Given the description of an element on the screen output the (x, y) to click on. 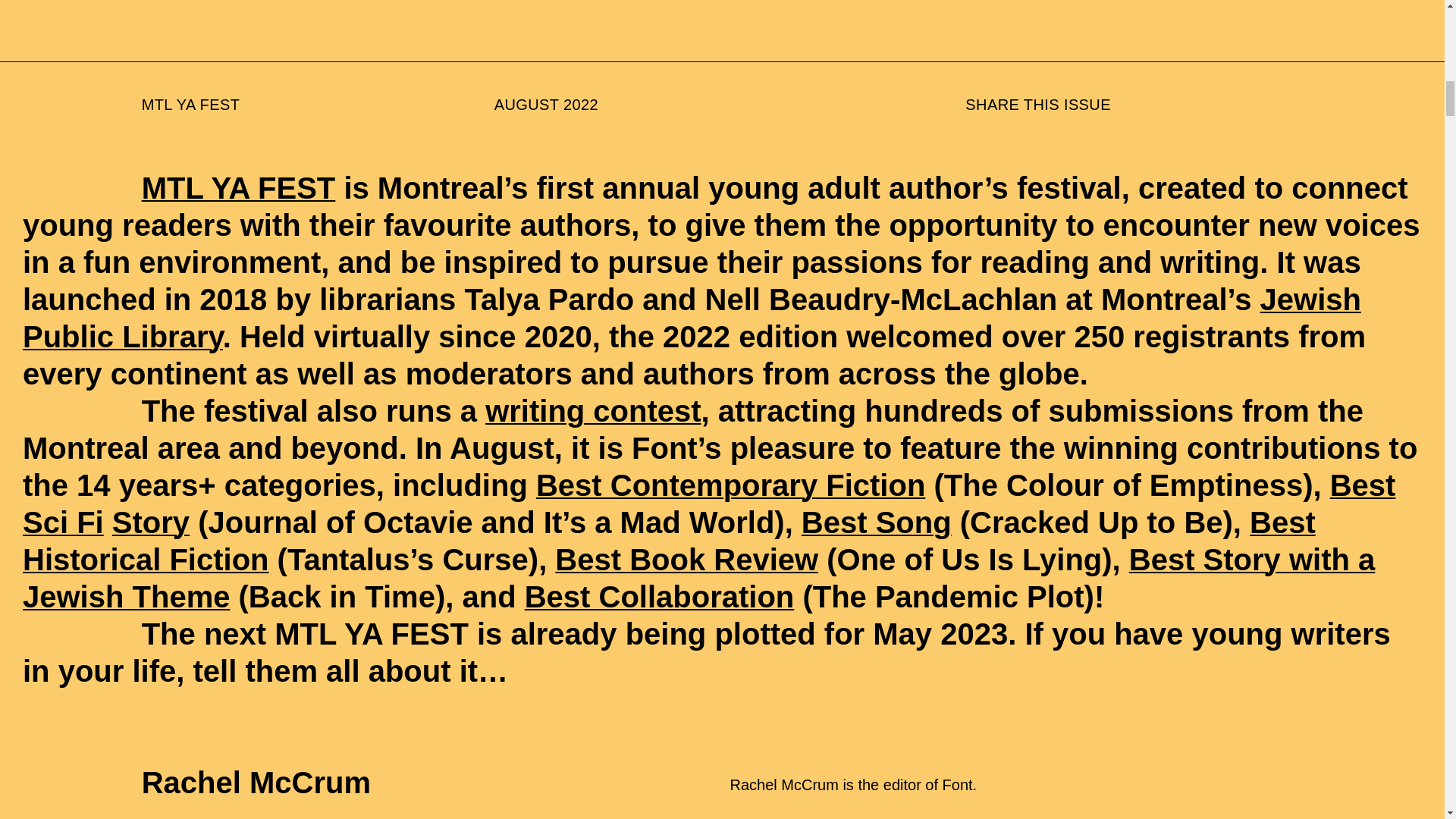
MTL YA FEST (238, 187)
Best Collaboration (659, 596)
Best Contemporary Fiction (729, 485)
Best Book Review (686, 559)
Best Sci Fi (708, 503)
Best Story with a Jewish Theme (698, 577)
SHARE THIS ISSUE (1037, 104)
Best Song (877, 522)
writing contest (592, 410)
Story (150, 522)
Jewish Public Library (692, 317)
Best Historical Fiction (669, 541)
